Given the description of an element on the screen output the (x, y) to click on. 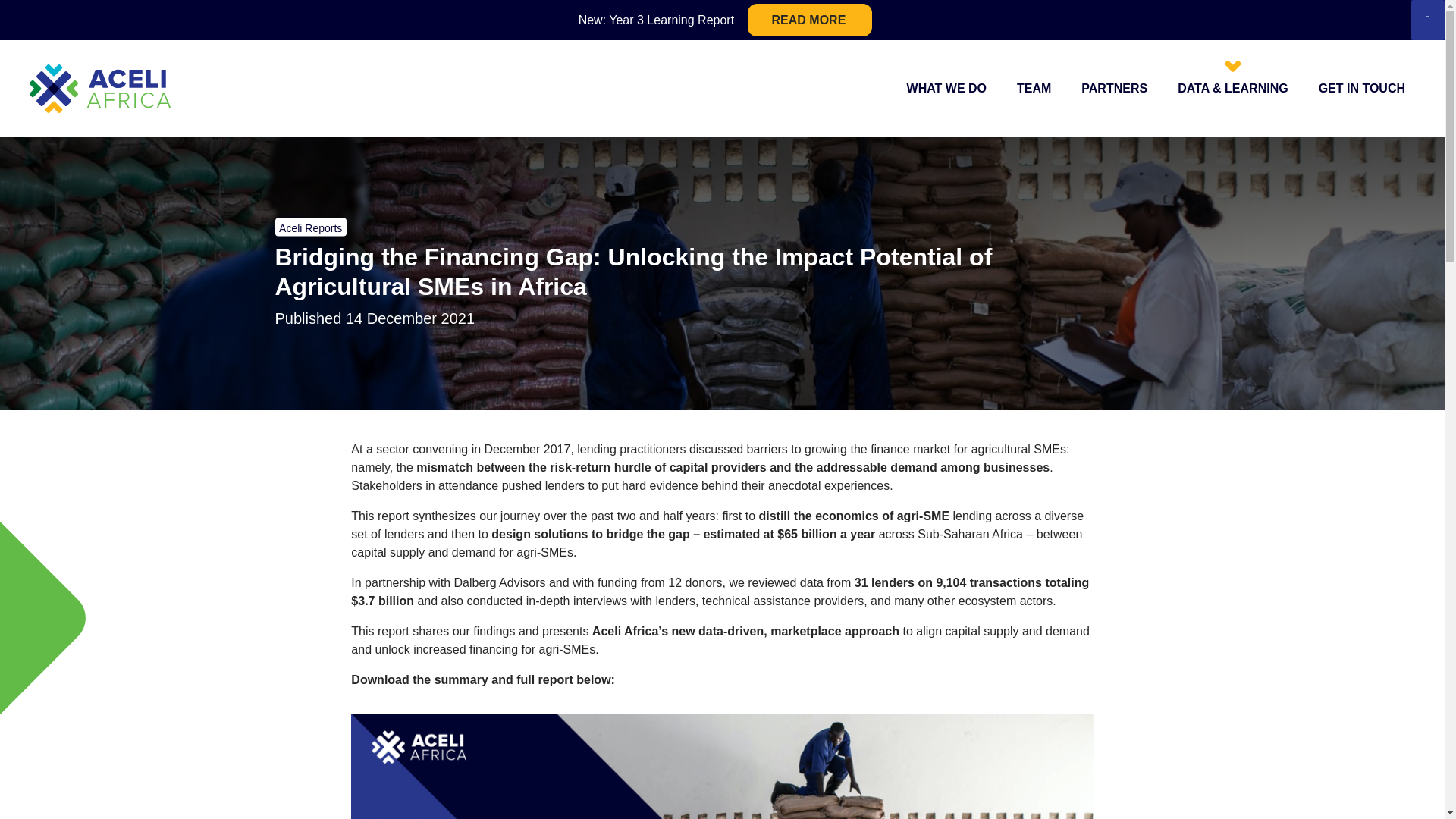
TEAM (1033, 88)
WHAT WE DO (947, 88)
READ MORE (810, 20)
GET IN TOUCH (1362, 88)
PARTNERS (1114, 88)
